Given the description of an element on the screen output the (x, y) to click on. 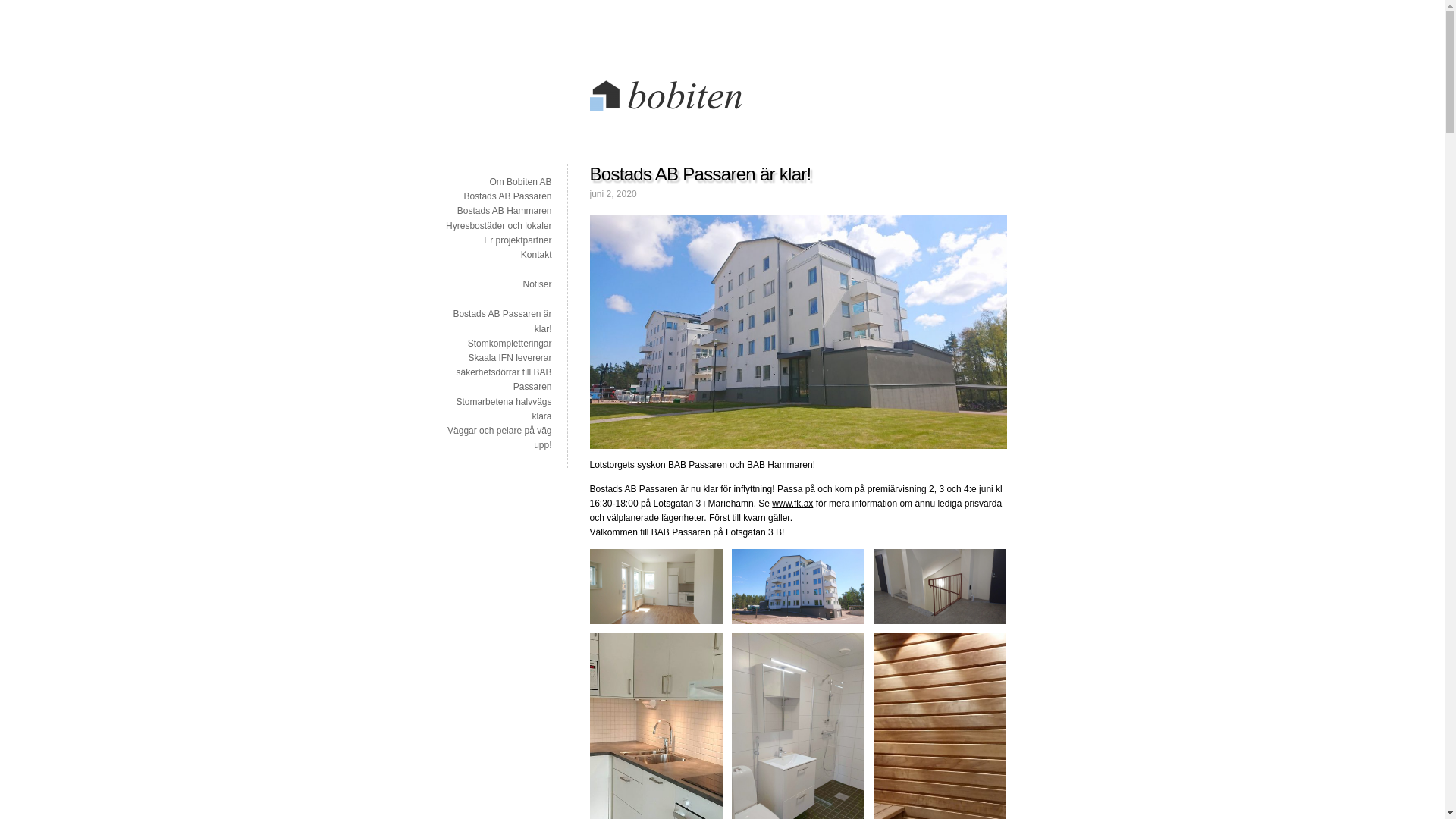
Om Bobiten AB Element type: text (520, 181)
Bostads AB Passaren Element type: text (507, 196)
Notiser Element type: text (536, 284)
Stomkompletteringar Element type: text (509, 343)
juni 2, 2020 Element type: text (613, 193)
Er projektpartner Element type: text (517, 240)
Bostads AB Hammaren Element type: text (504, 210)
Kontakt Element type: text (536, 254)
www.fk.ax Element type: text (791, 503)
